Given the description of an element on the screen output the (x, y) to click on. 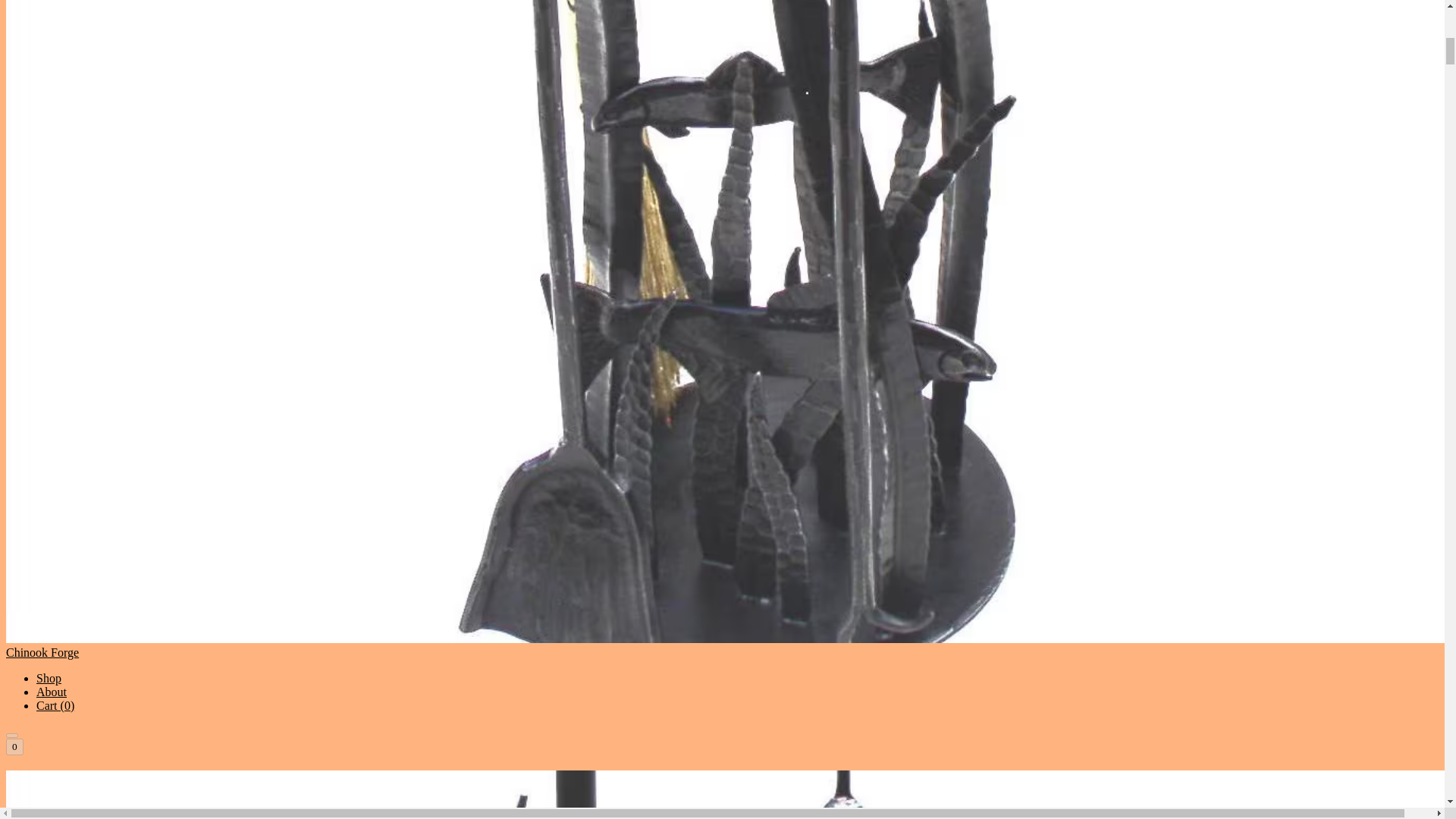
0 (14, 746)
Chinook Forge (721, 794)
About (51, 691)
Shop (48, 677)
